Given the description of an element on the screen output the (x, y) to click on. 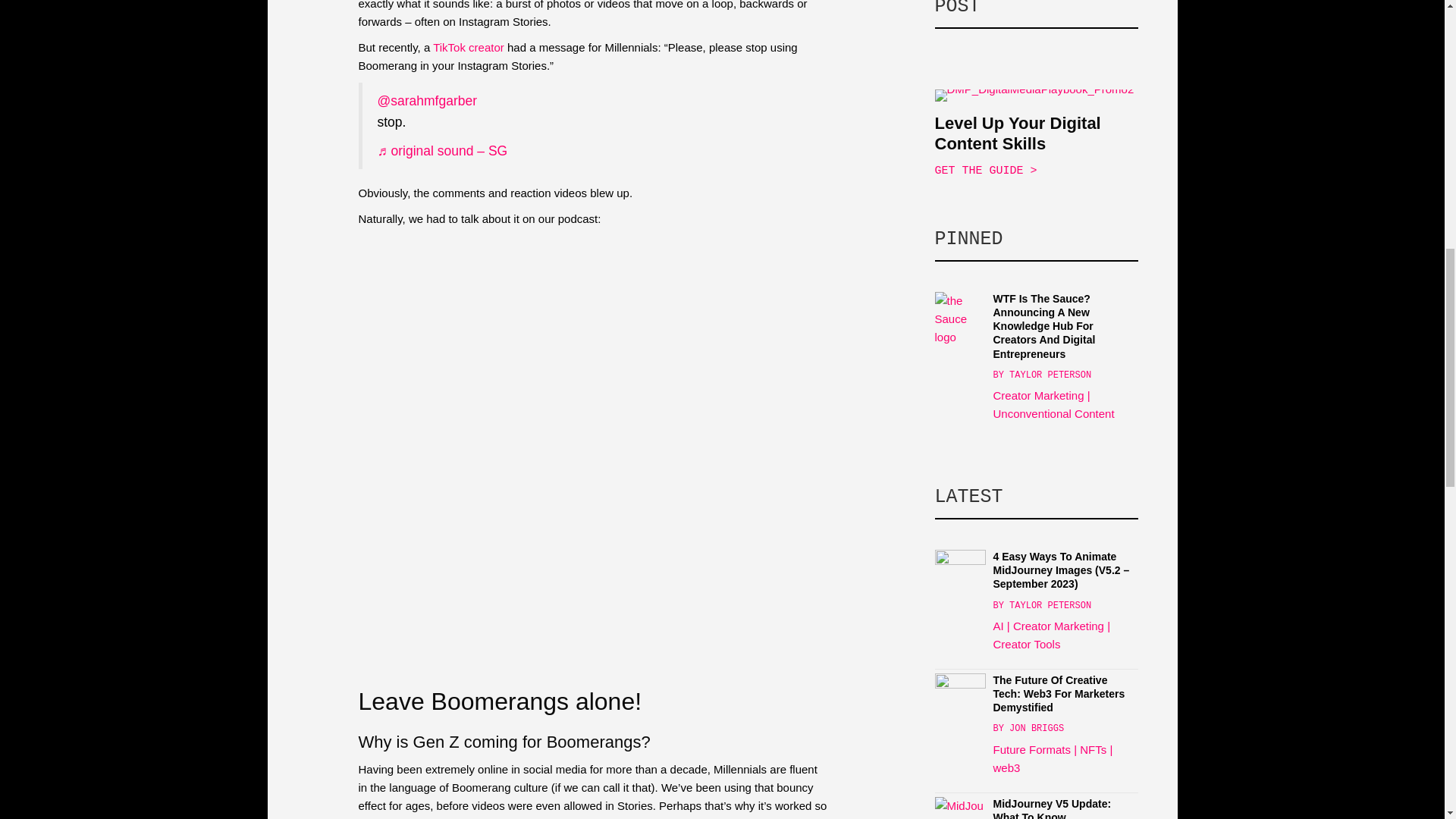
The Future of Creative Tech: Web3 for Marketers Demystified (959, 697)
Unconventional Content (1053, 413)
Creator Marketing (1038, 395)
TikTok creator (467, 47)
TAYLOR PETERSON (1049, 375)
Level Up Your Digital Content Skills (1017, 133)
TAYLOR PETERSON (1049, 605)
The Future of Creative Tech: Web3 for Marketers Demystified (1058, 693)
